Given the description of an element on the screen output the (x, y) to click on. 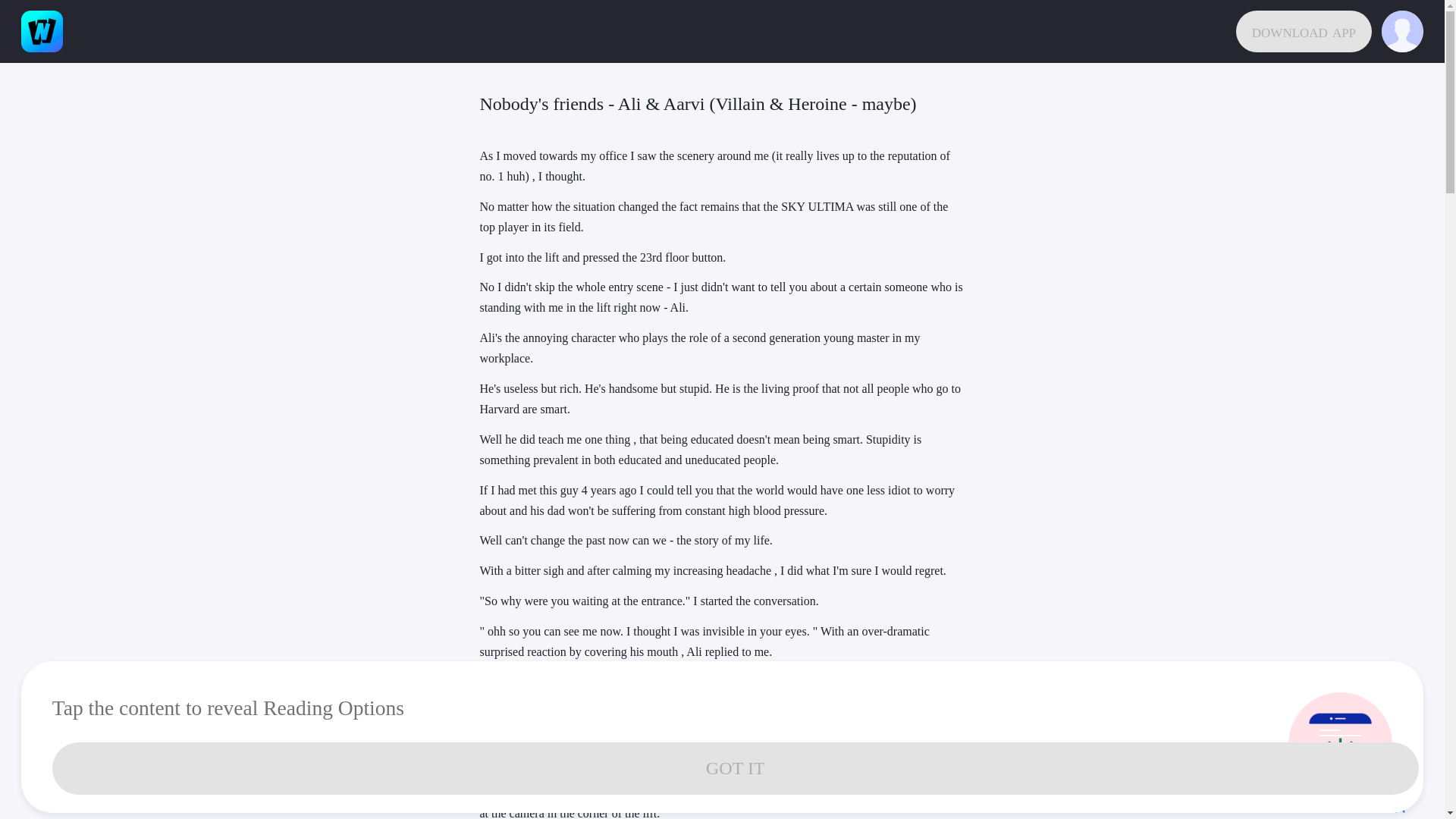
GOT IT (735, 768)
download app (1303, 31)
Webnovel (41, 31)
